Given the description of an element on the screen output the (x, y) to click on. 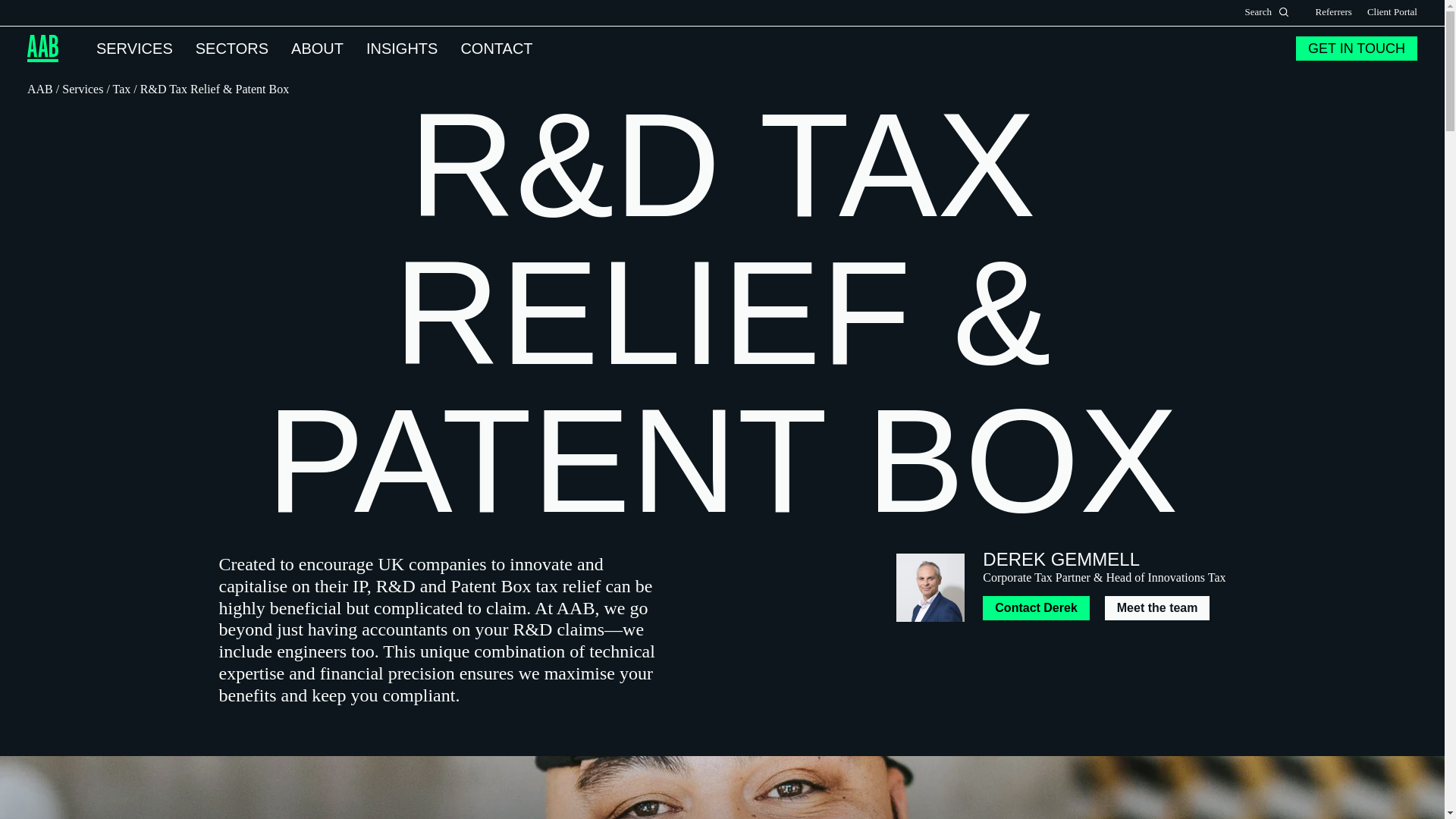
Client Portal (1391, 12)
SERVICES (134, 47)
Referrers (1334, 12)
AAB Logo (42, 48)
Search (1283, 11)
ABOUT (317, 47)
SECTORS (231, 47)
Search (1283, 11)
